Given the description of an element on the screen output the (x, y) to click on. 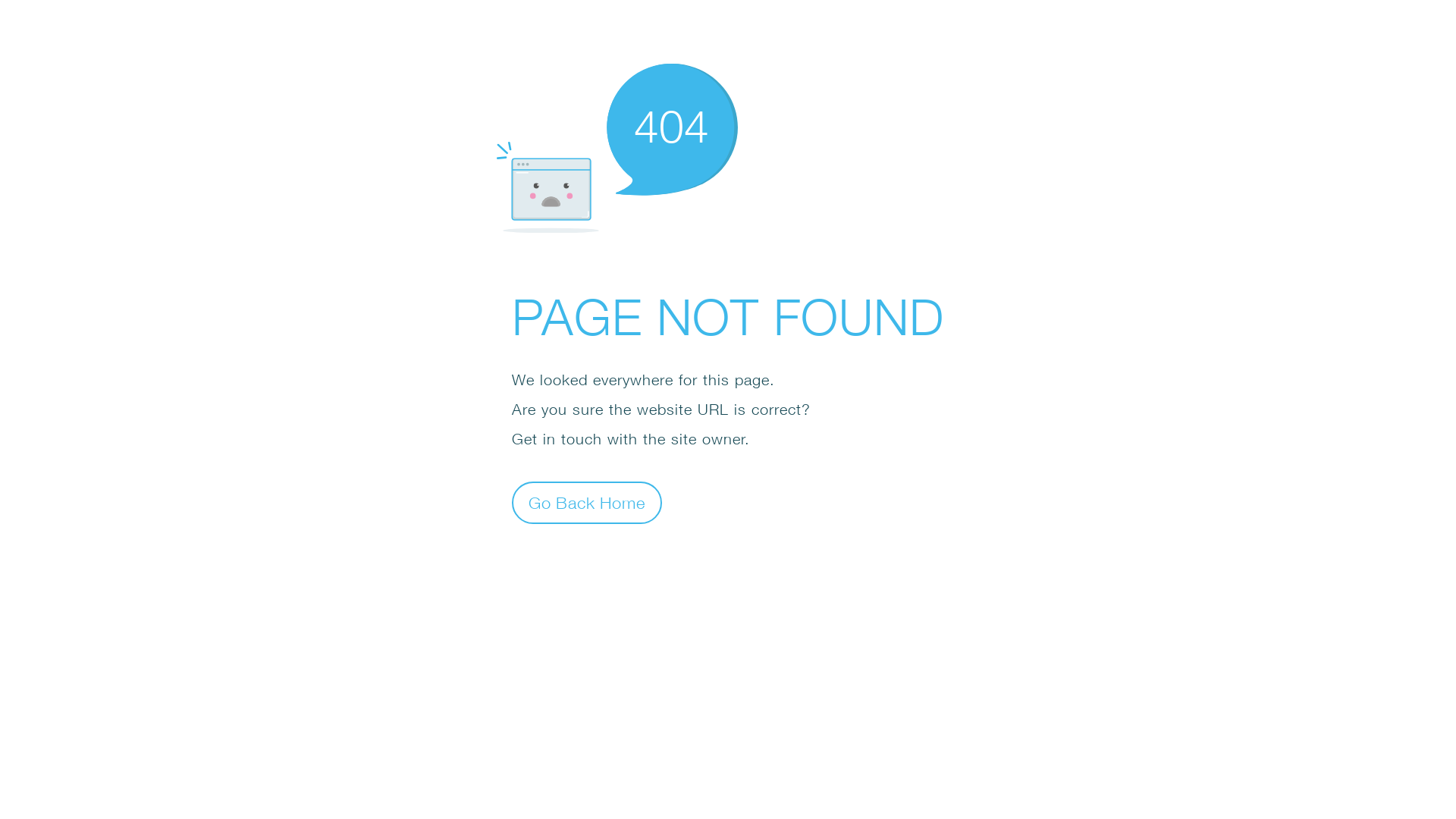
Go Back Home Element type: text (586, 502)
